Given the description of an element on the screen output the (x, y) to click on. 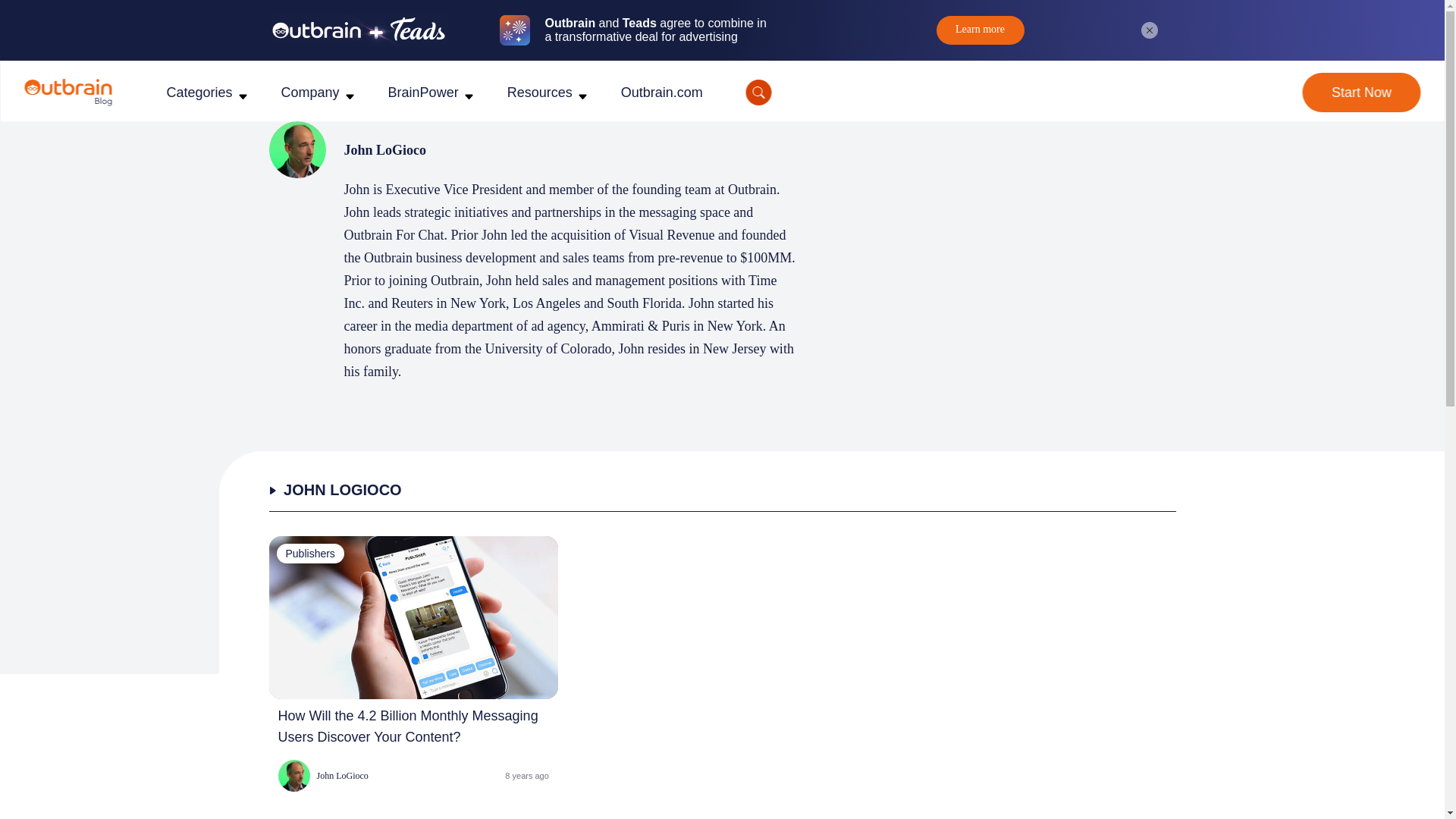
Categories (199, 92)
John LoGioco (323, 775)
Learn more (979, 30)
